Given the description of an element on the screen output the (x, y) to click on. 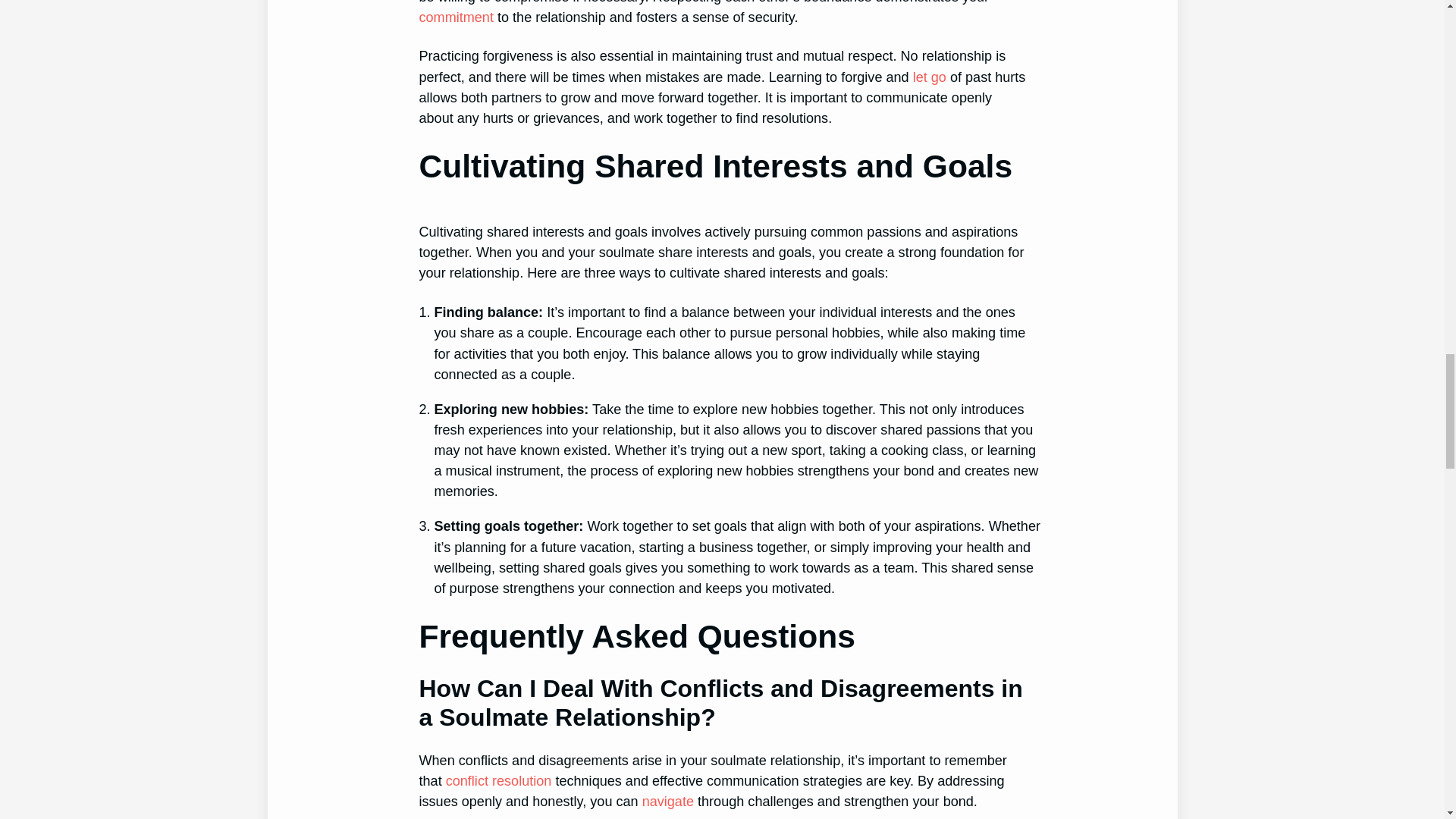
conflict resolution (498, 780)
navigate (668, 801)
let go (929, 77)
let go (929, 77)
commitment (456, 17)
navigate (668, 801)
conflict resolution (498, 780)
commitment (456, 17)
